Given the description of an element on the screen output the (x, y) to click on. 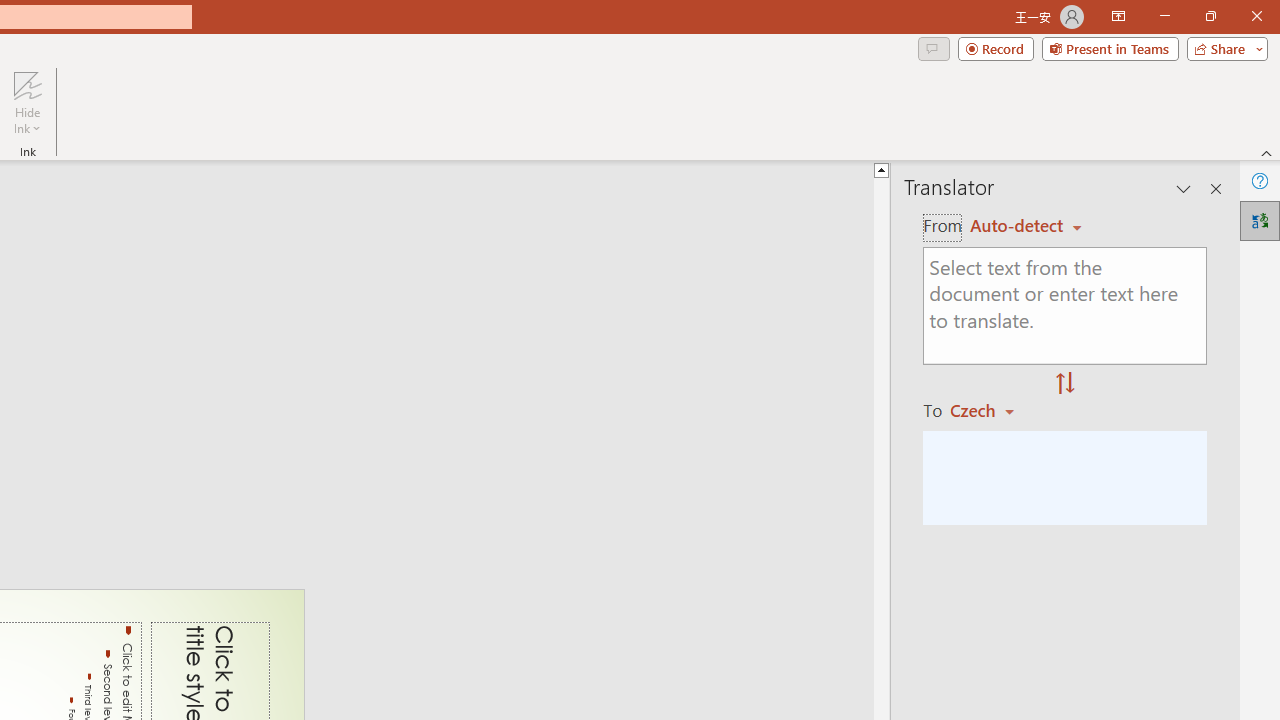
Save as type (265, 624)
